Given the description of an element on the screen output the (x, y) to click on. 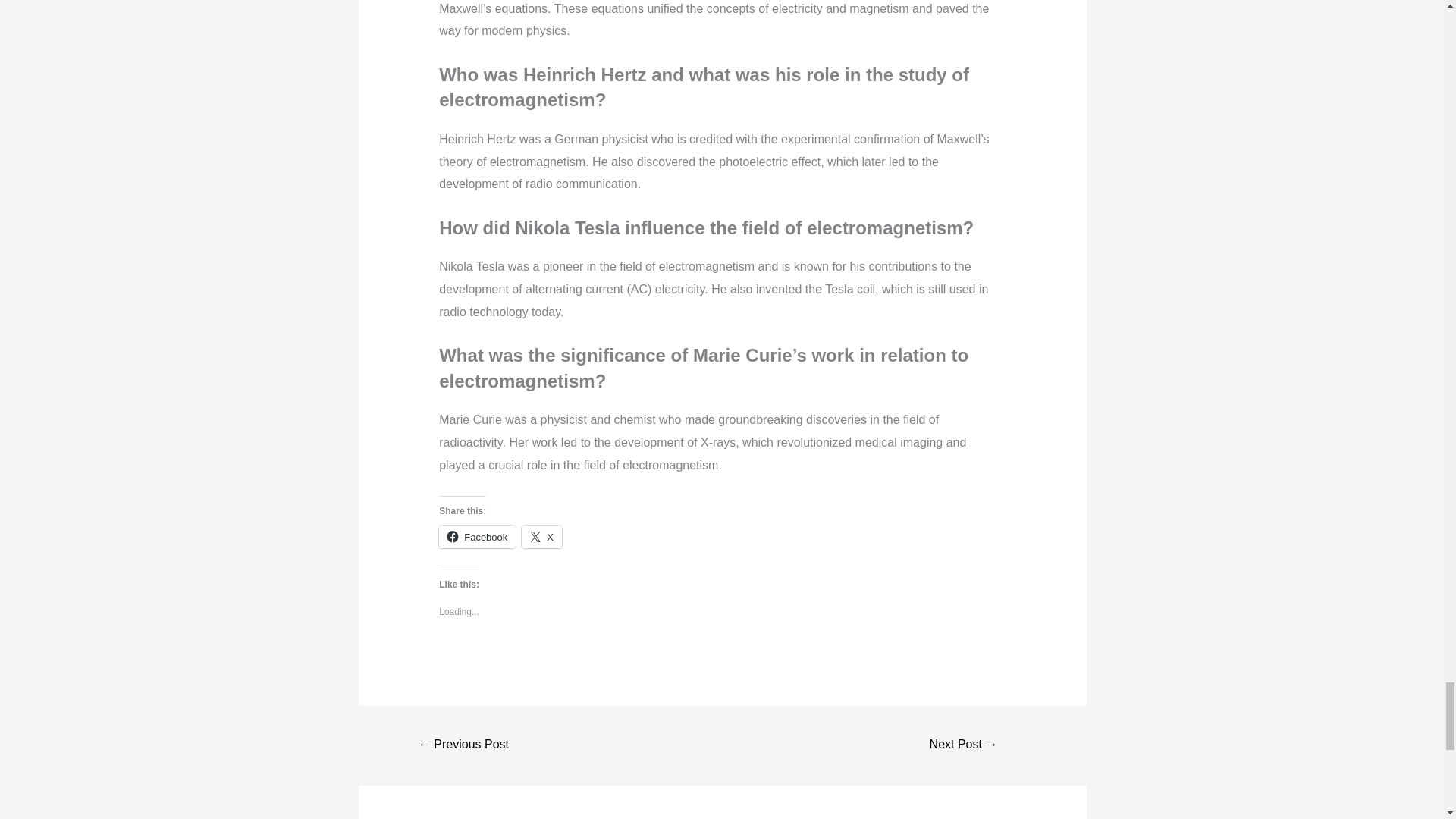
Click to share on Facebook (477, 536)
What Are The Benefits Of An Animal Based Diet (962, 746)
Click to share on X (541, 536)
What Are the Difference in Government Structures (463, 746)
